Given the description of an element on the screen output the (x, y) to click on. 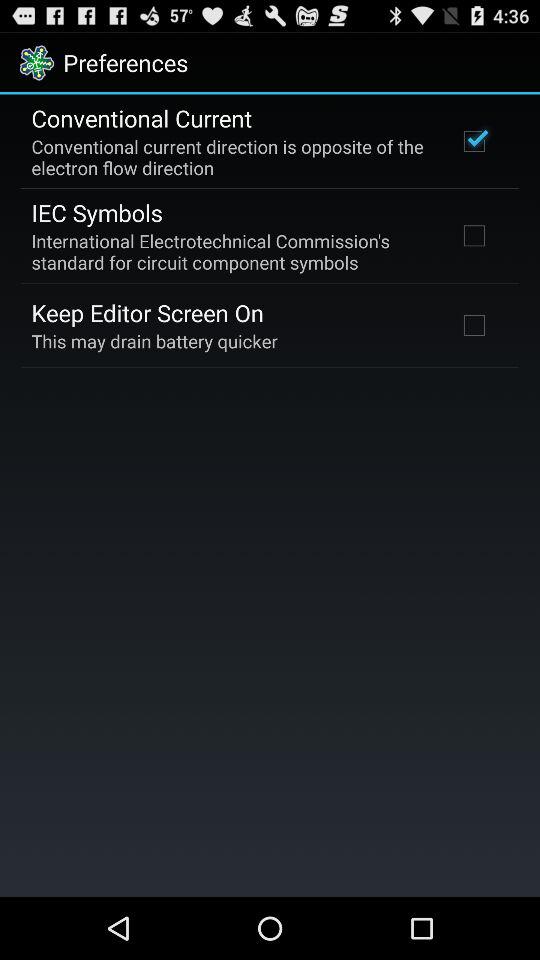
open the icon above the keep editor screen app (231, 251)
